Given the description of an element on the screen output the (x, y) to click on. 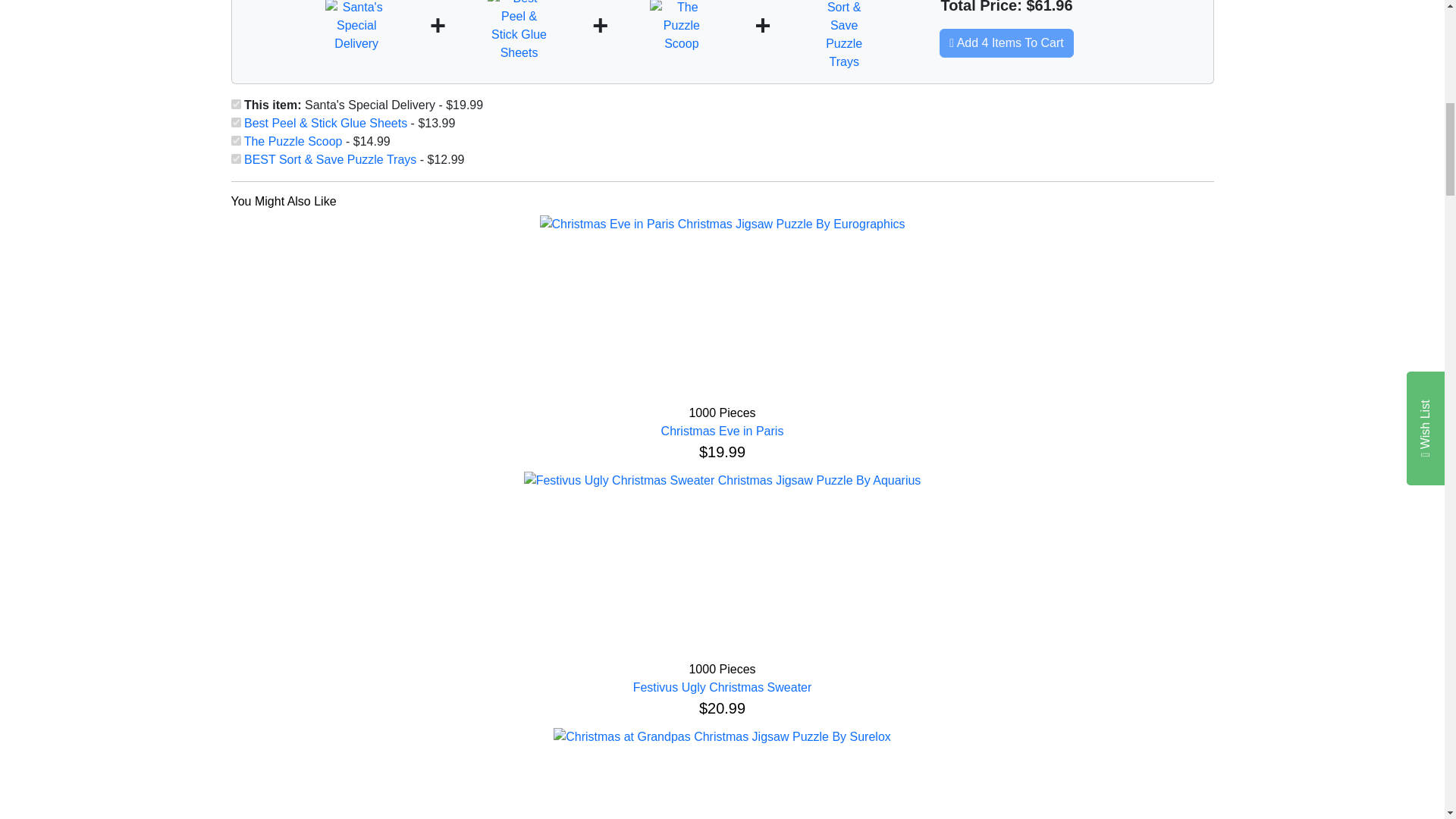
115504 (235, 158)
115502 (235, 122)
Christmas at Grandpas Christmas Jigsaw Puzzle By Surelox (722, 737)
145265 (235, 140)
142340 (235, 103)
